Given the description of an element on the screen output the (x, y) to click on. 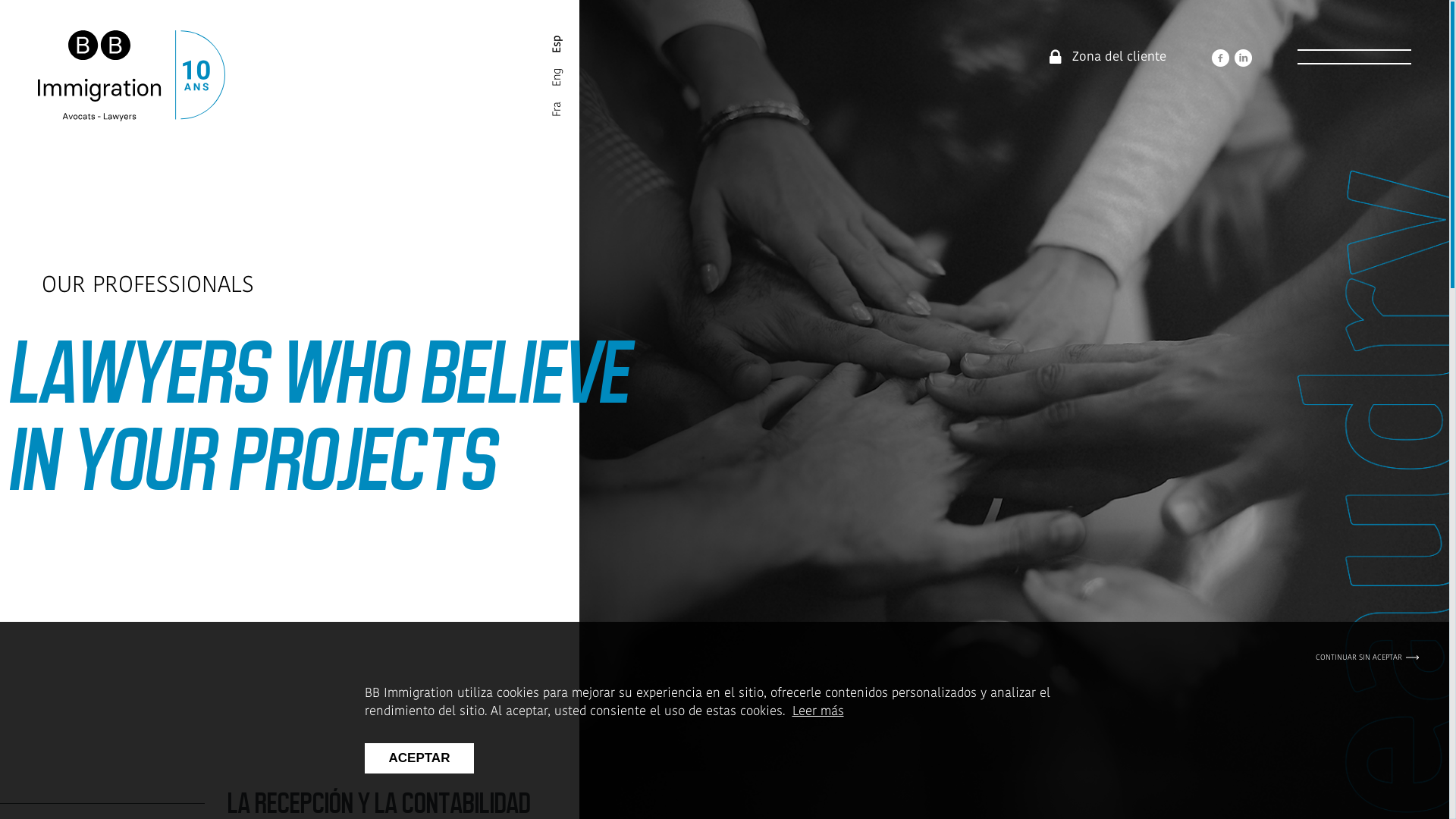
Fra Element type: text (555, 109)
Zona del cliente Element type: text (1119, 56)
ACEPTAR Element type: text (418, 758)
Eng Element type: text (557, 76)
Esp Element type: text (557, 42)
